Given the description of an element on the screen output the (x, y) to click on. 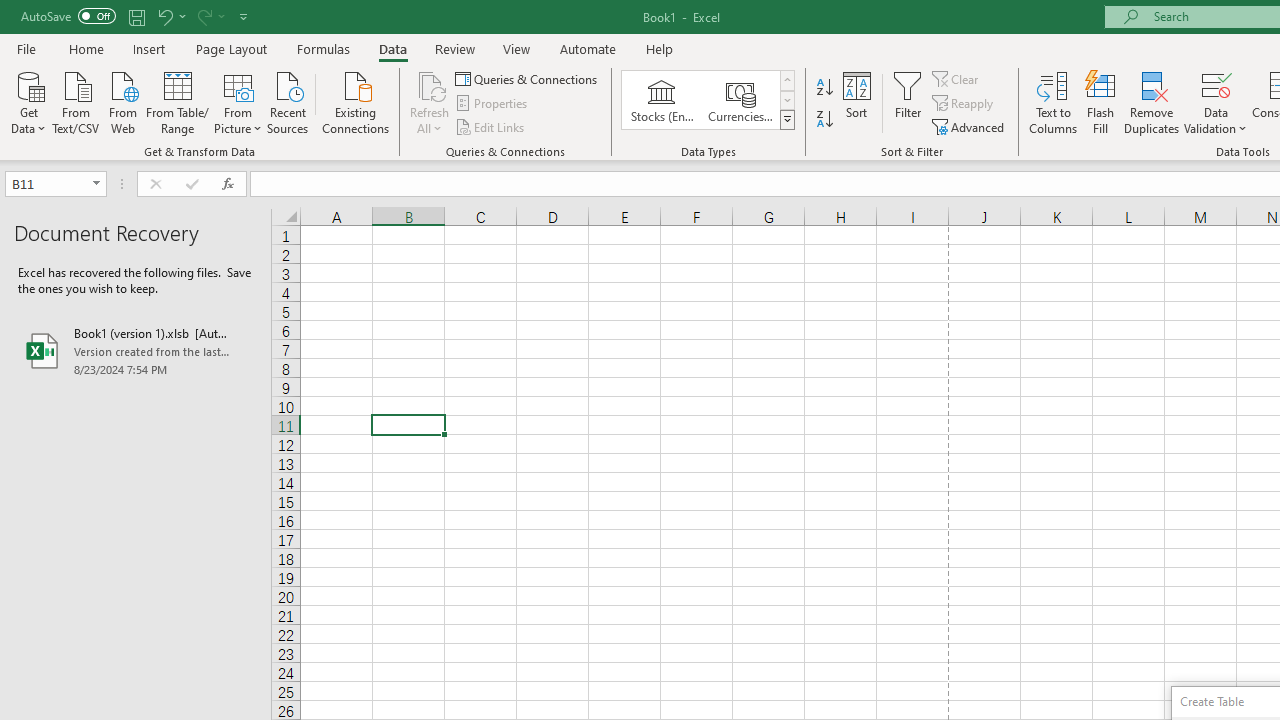
Class: NetUIImage (787, 119)
Edit Links (491, 126)
Row up (786, 79)
Text to Columns... (1053, 102)
Sort... (856, 102)
Stocks (English) (662, 100)
Recent Sources (287, 101)
Properties (492, 103)
Remove Duplicates (1151, 102)
